Given the description of an element on the screen output the (x, y) to click on. 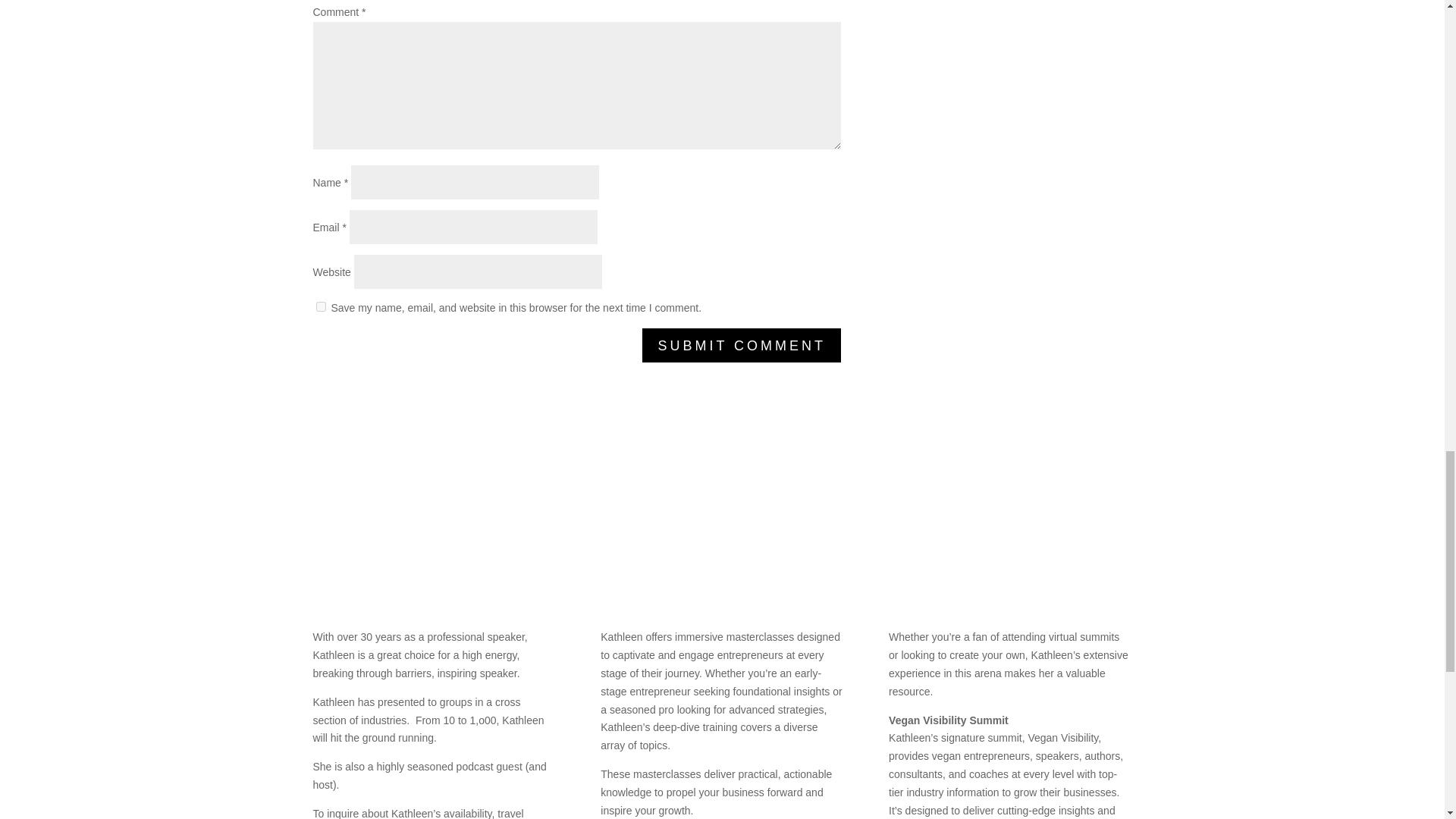
yes (319, 307)
Submit Comment (741, 345)
Submit Comment (741, 345)
